Given the description of an element on the screen output the (x, y) to click on. 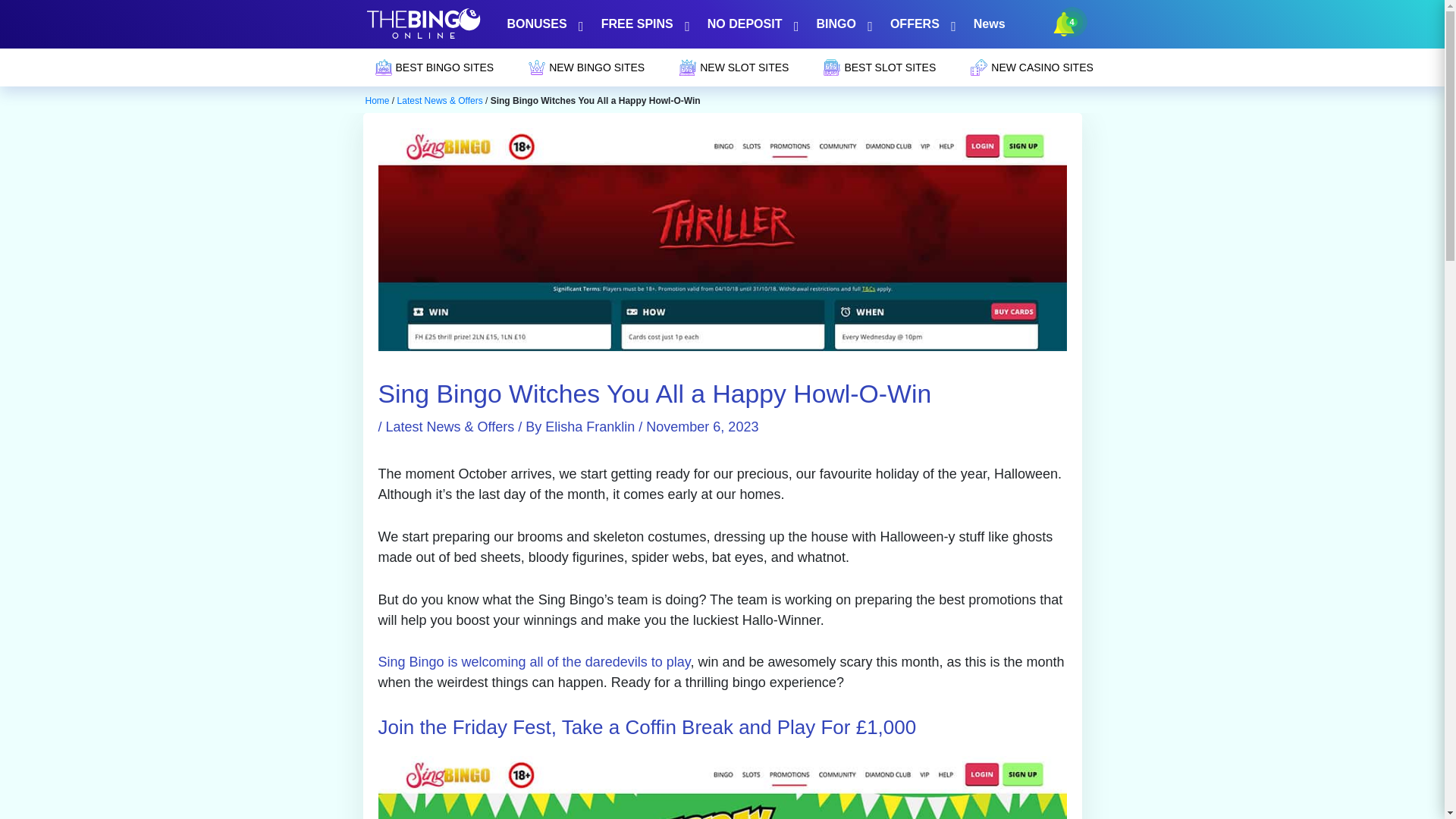
View all posts by Elisha Franklin (591, 426)
NO DEPOSIT (750, 24)
BONUSES (542, 24)
BINGO (841, 24)
FREE SPINS (642, 24)
